Given the description of an element on the screen output the (x, y) to click on. 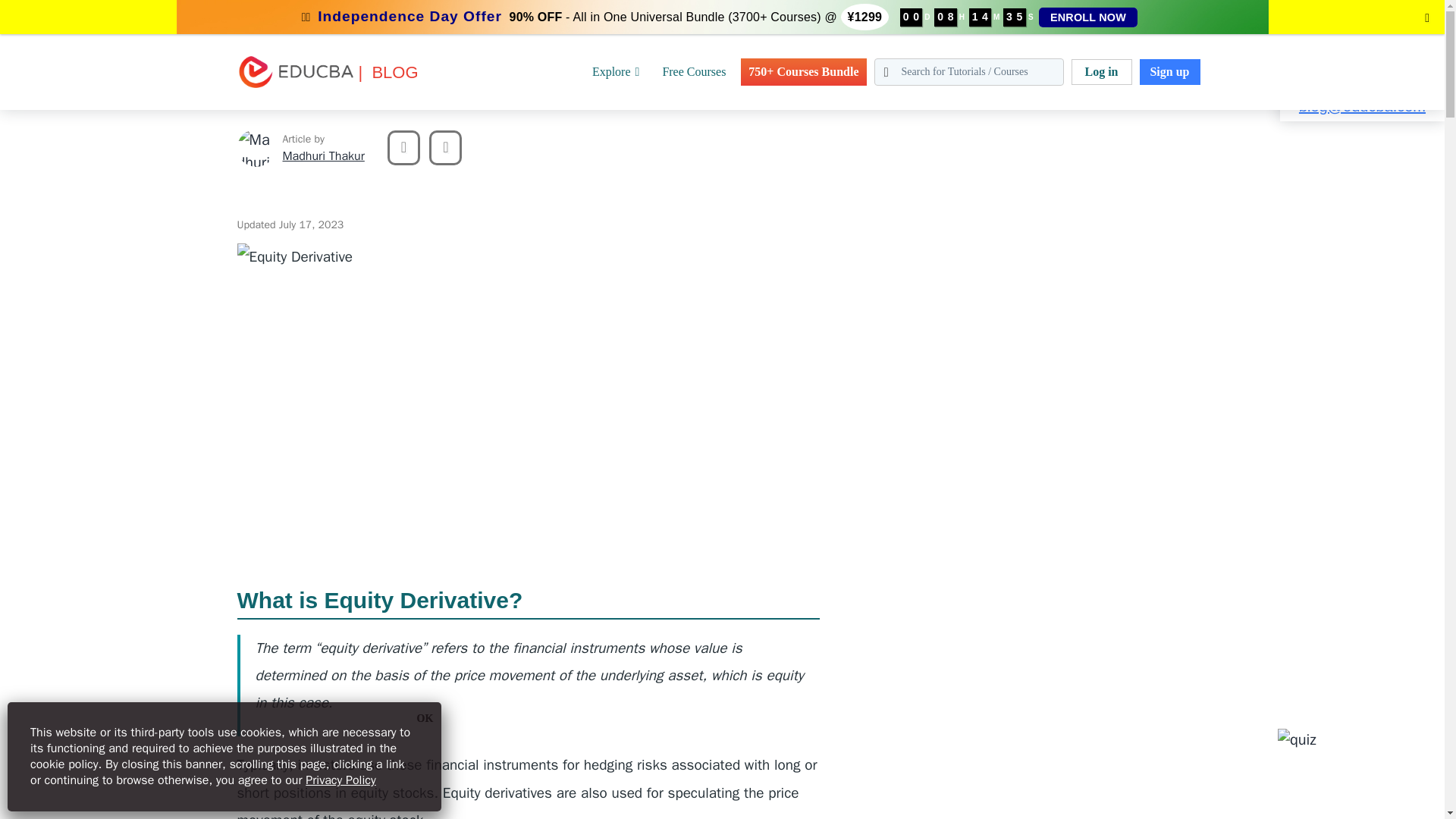
Previous (403, 147)
Corporate Finance Resources (260, 9)
Home (13, 9)
Finance Resources (134, 9)
Madhuri Thakur (255, 147)
Madhuri Thakur (323, 155)
Sign up (1168, 71)
Explore (616, 72)
Finance (58, 9)
Search (43, 19)
